Given the description of an element on the screen output the (x, y) to click on. 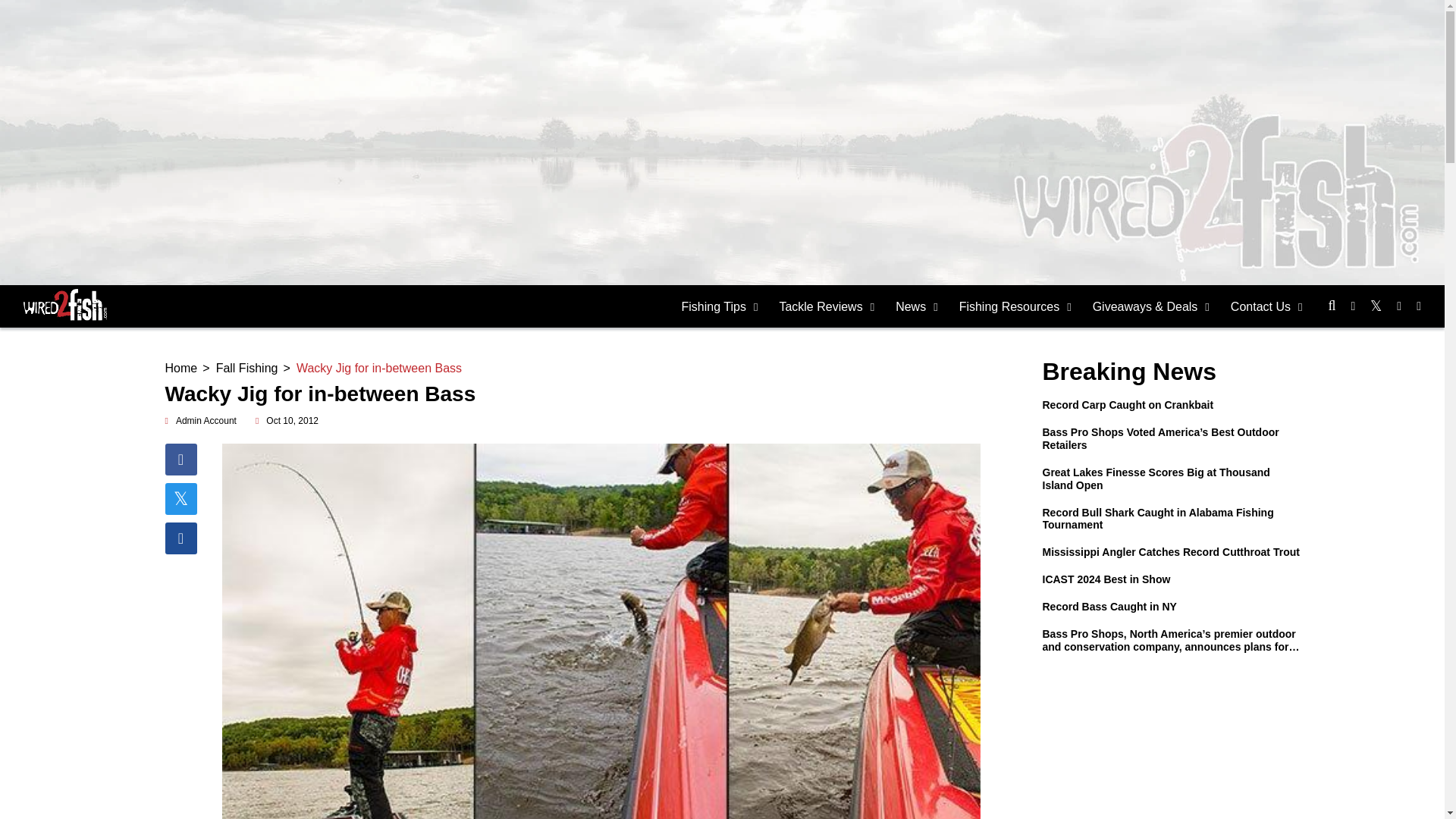
Fishing Tips (719, 306)
